Given the description of an element on the screen output the (x, y) to click on. 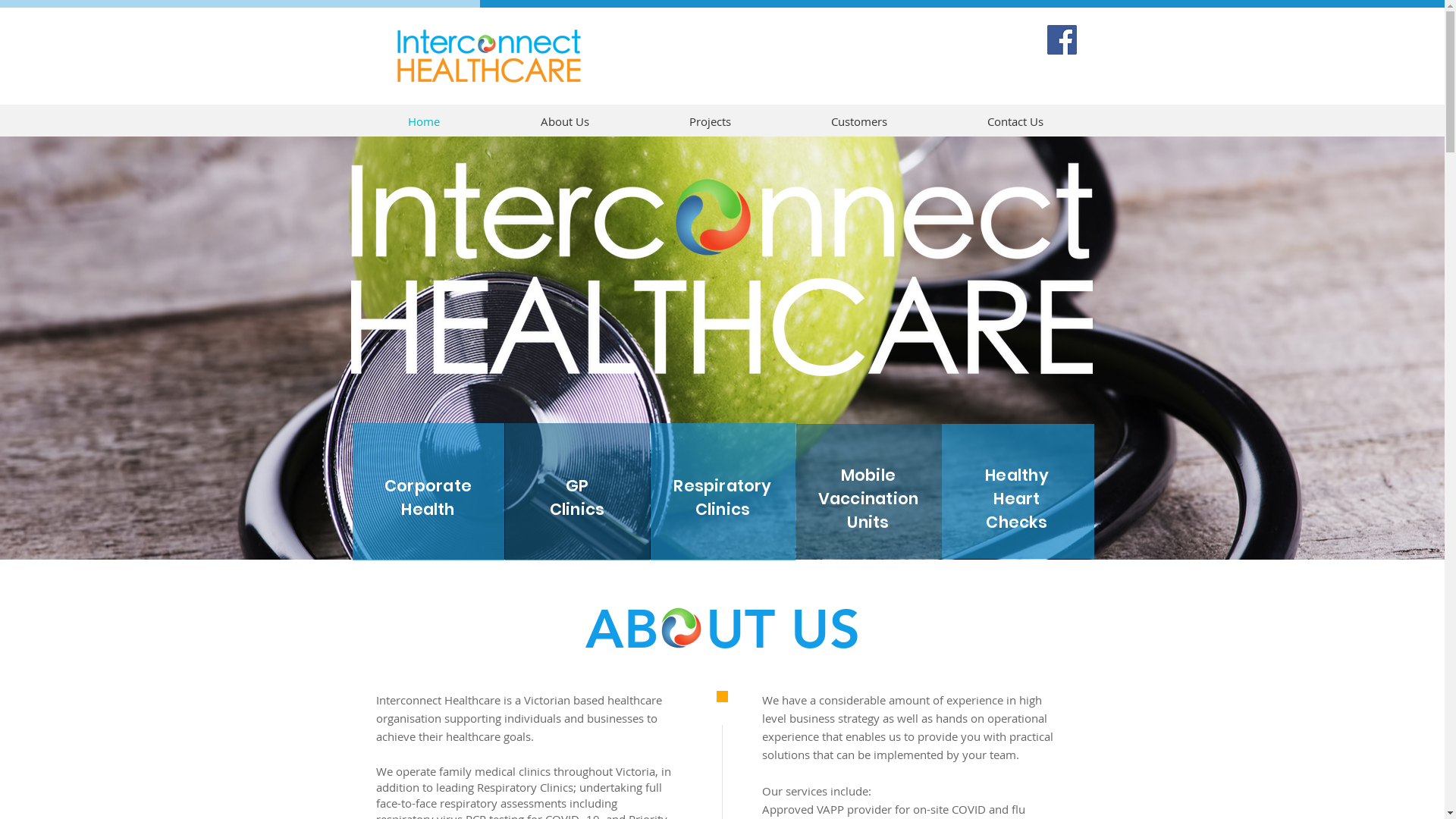
About Us Element type: text (563, 121)
Contact Us Element type: text (1015, 121)
Projects Element type: text (709, 121)
Home Element type: text (423, 121)
Healthcare solutions Melbourne Australia Element type: hover (721, 277)
Customers Element type: text (859, 121)
Healthcar Solutions Melbourne Australia Element type: hover (487, 55)
